Given the description of an element on the screen output the (x, y) to click on. 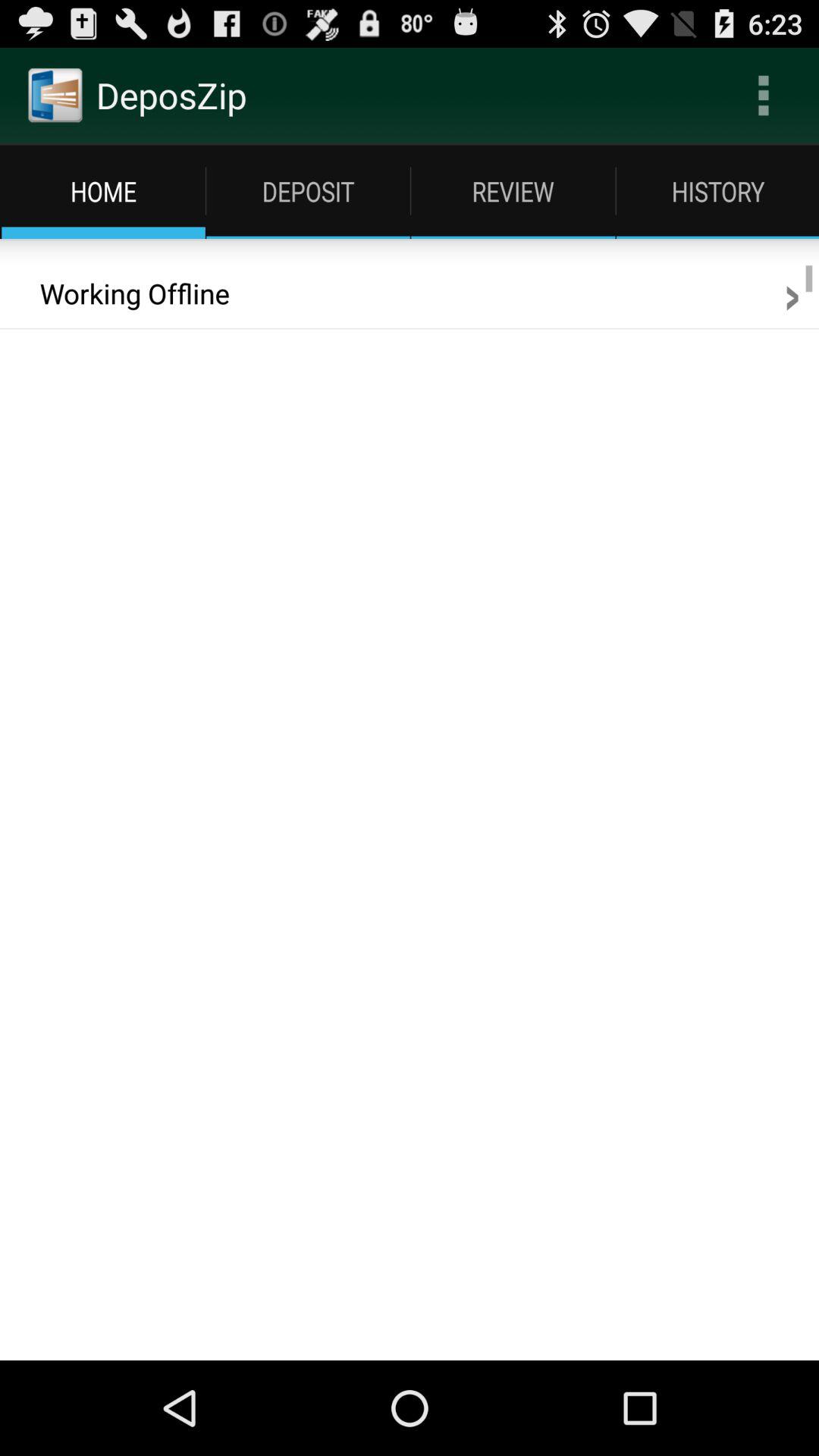
press the icon to the left of working offline icon (9, 274)
